Given the description of an element on the screen output the (x, y) to click on. 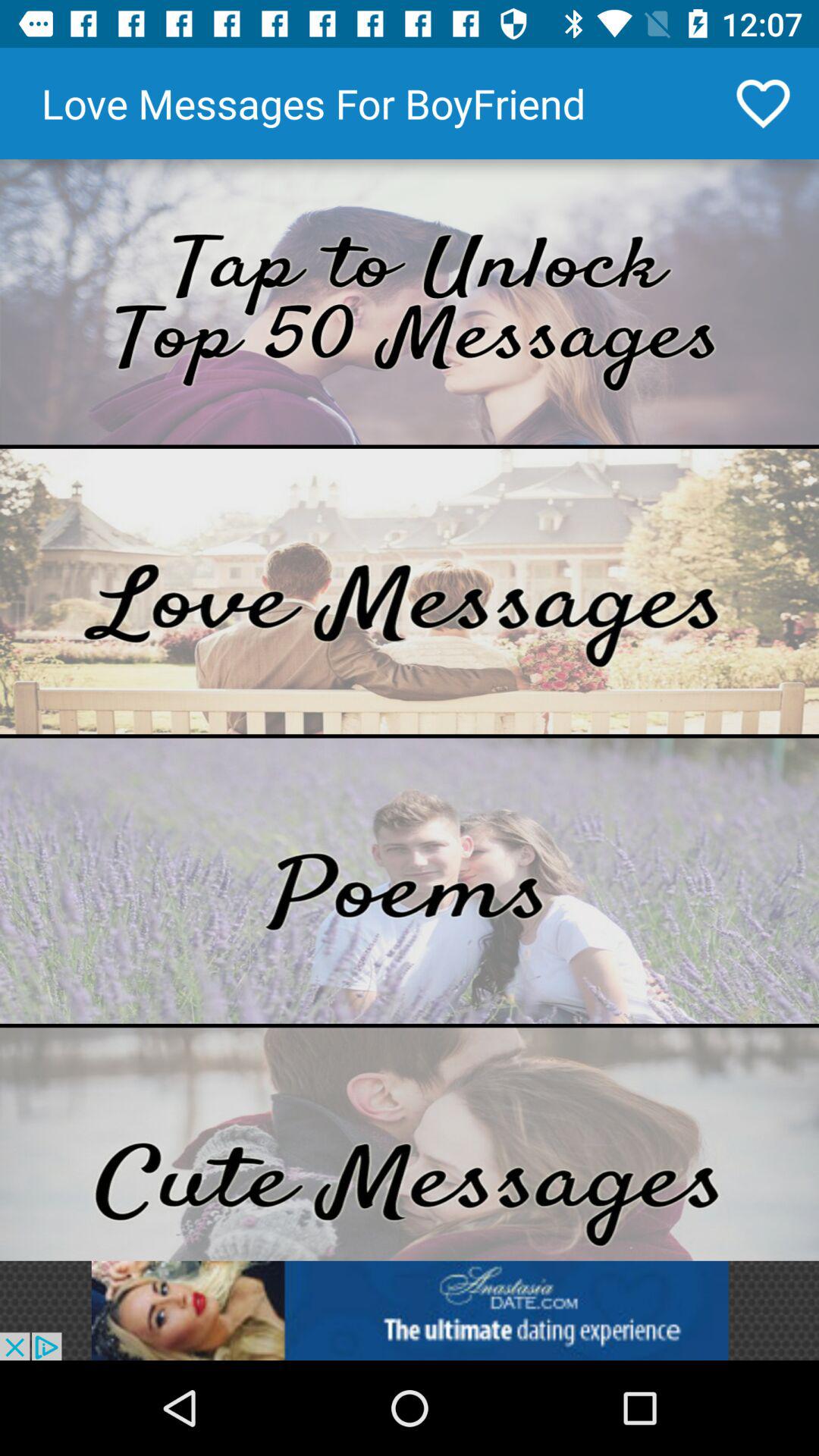
open poems (409, 880)
